Given the description of an element on the screen output the (x, y) to click on. 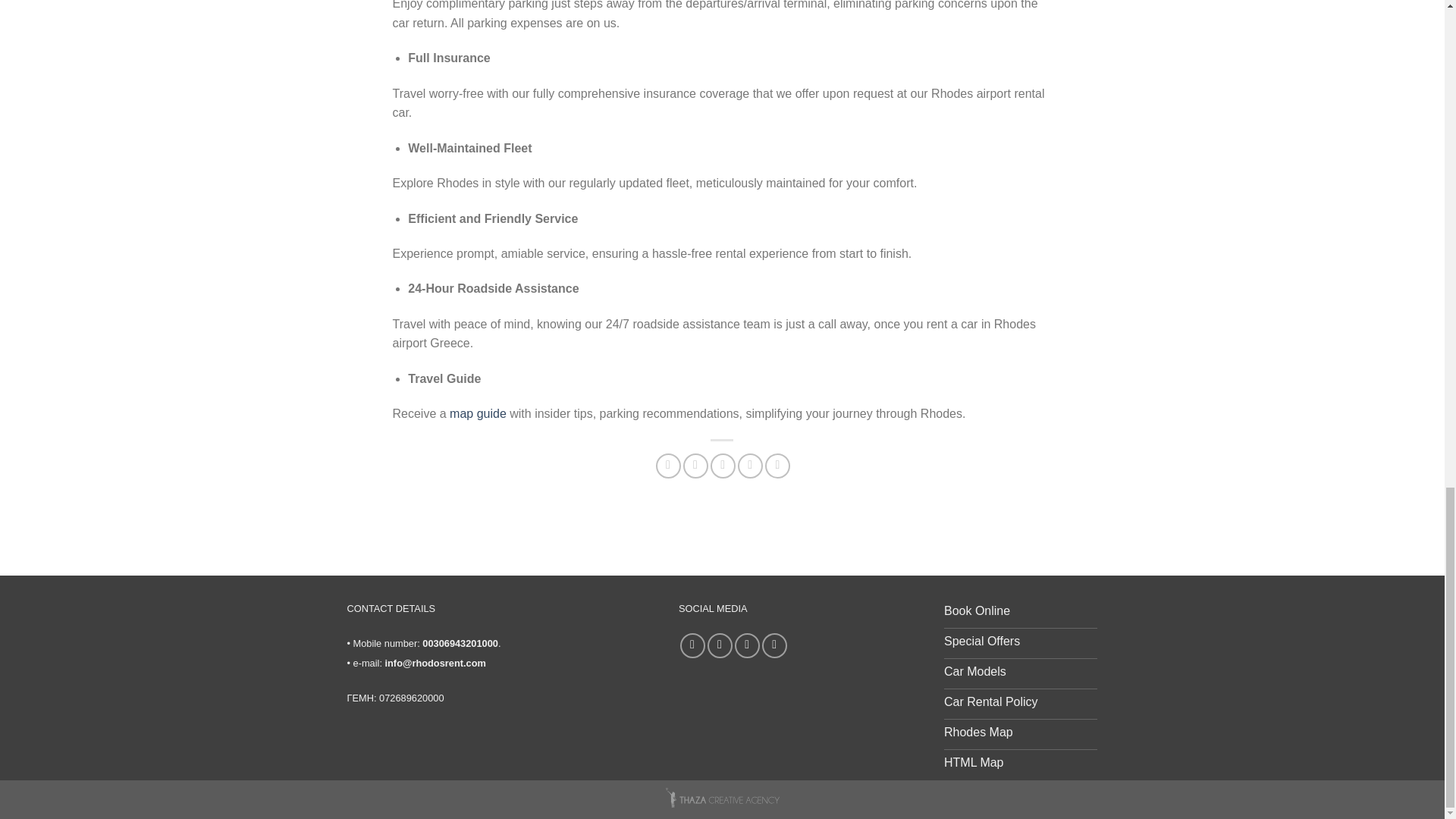
Share on Facebook (668, 465)
Share on Twitter (694, 465)
Pin on Pinterest (750, 465)
Email to a Friend (722, 465)
Share on LinkedIn (777, 465)
map guide (477, 413)
